Given the description of an element on the screen output the (x, y) to click on. 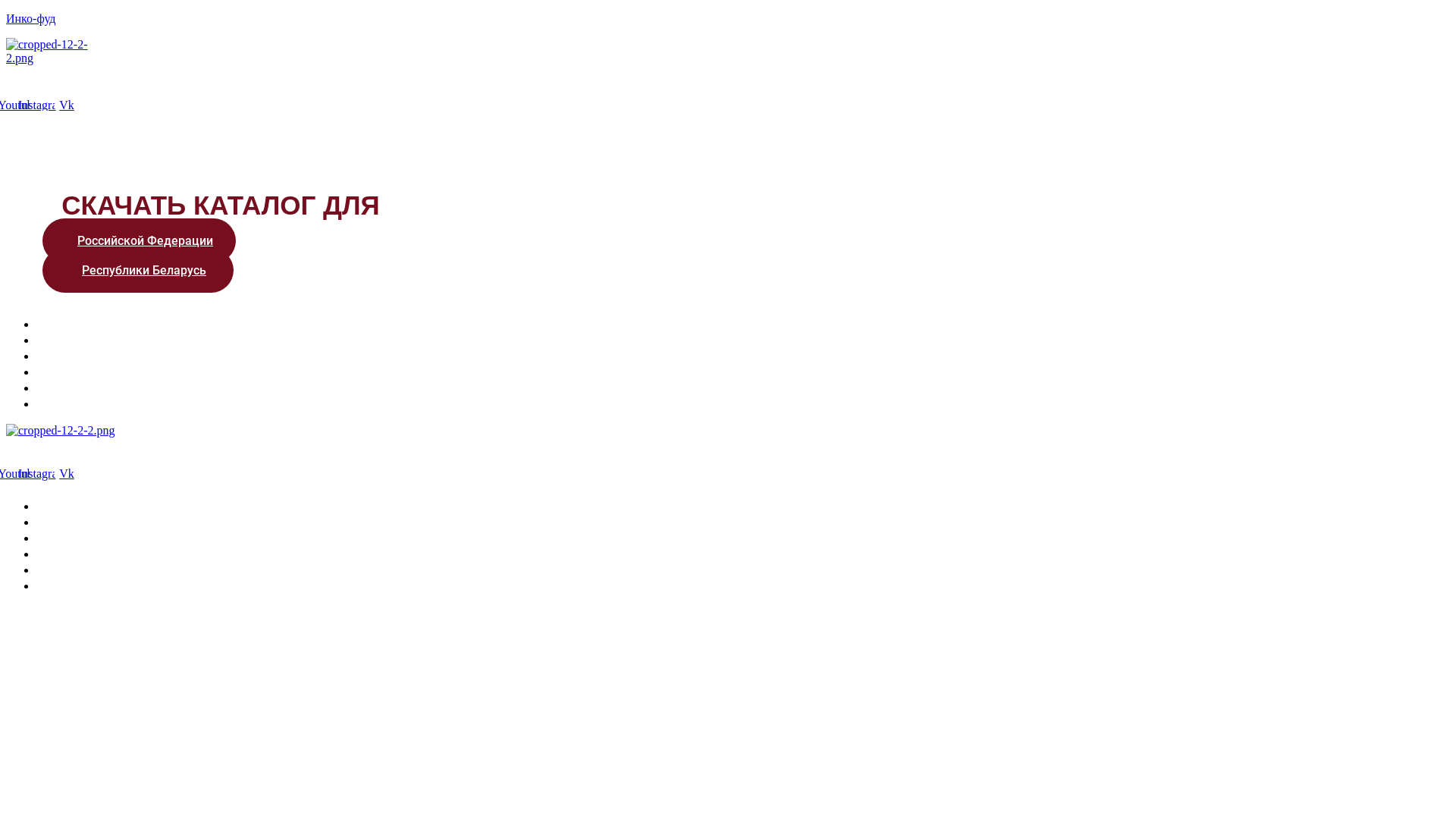
Youtube Element type: text (18, 473)
Vk Element type: text (66, 473)
Instagram Element type: text (42, 473)
Youtube Element type: text (18, 105)
cropped-12-2-2.png Element type: hover (57, 51)
cropped-12-2-2.png Element type: hover (60, 430)
Instagram Element type: text (42, 105)
Vk Element type: text (66, 105)
